Given the description of an element on the screen output the (x, y) to click on. 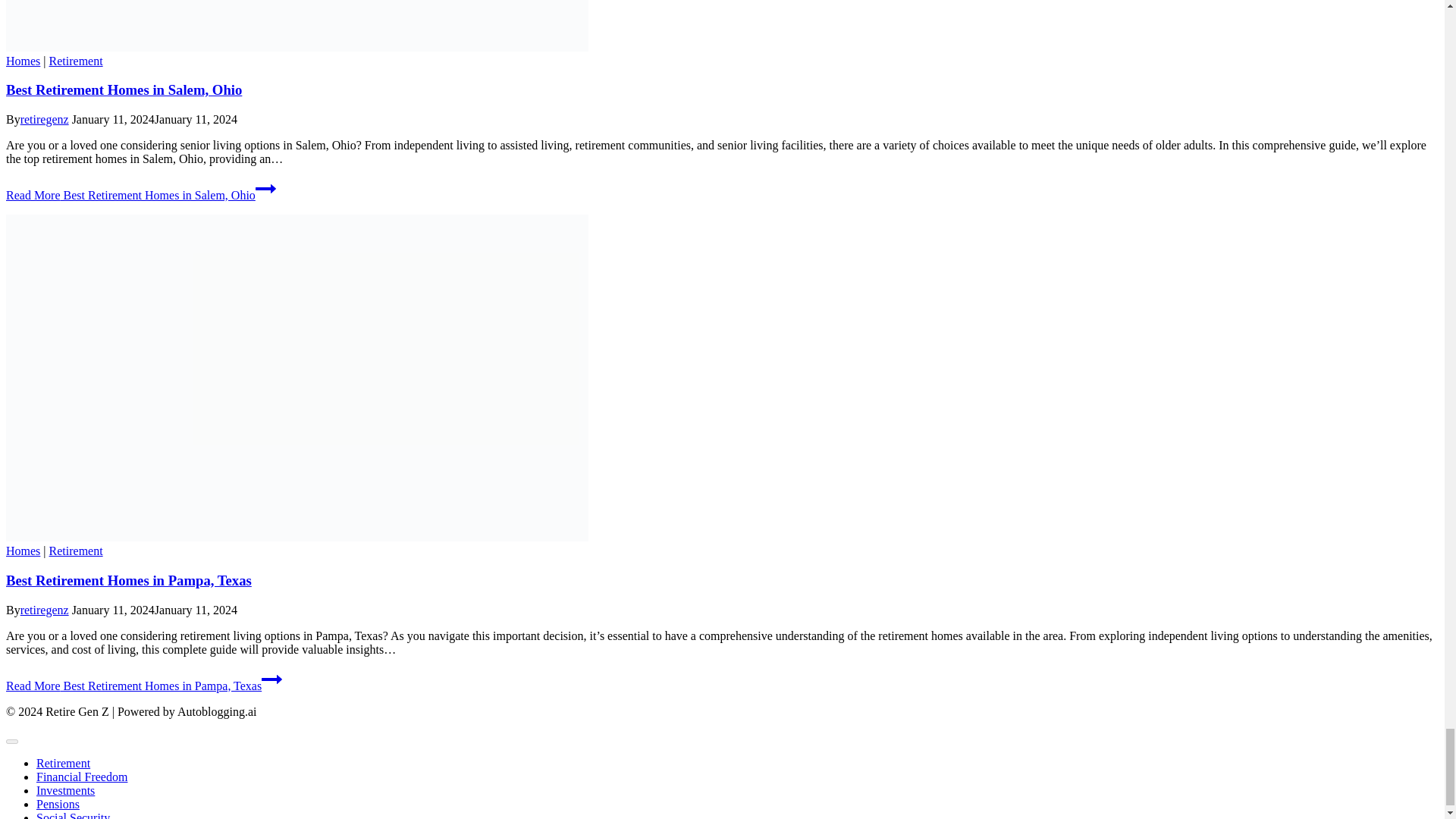
Continue (272, 679)
Continue (266, 188)
Homes (22, 60)
Retirement (76, 60)
